Given the description of an element on the screen output the (x, y) to click on. 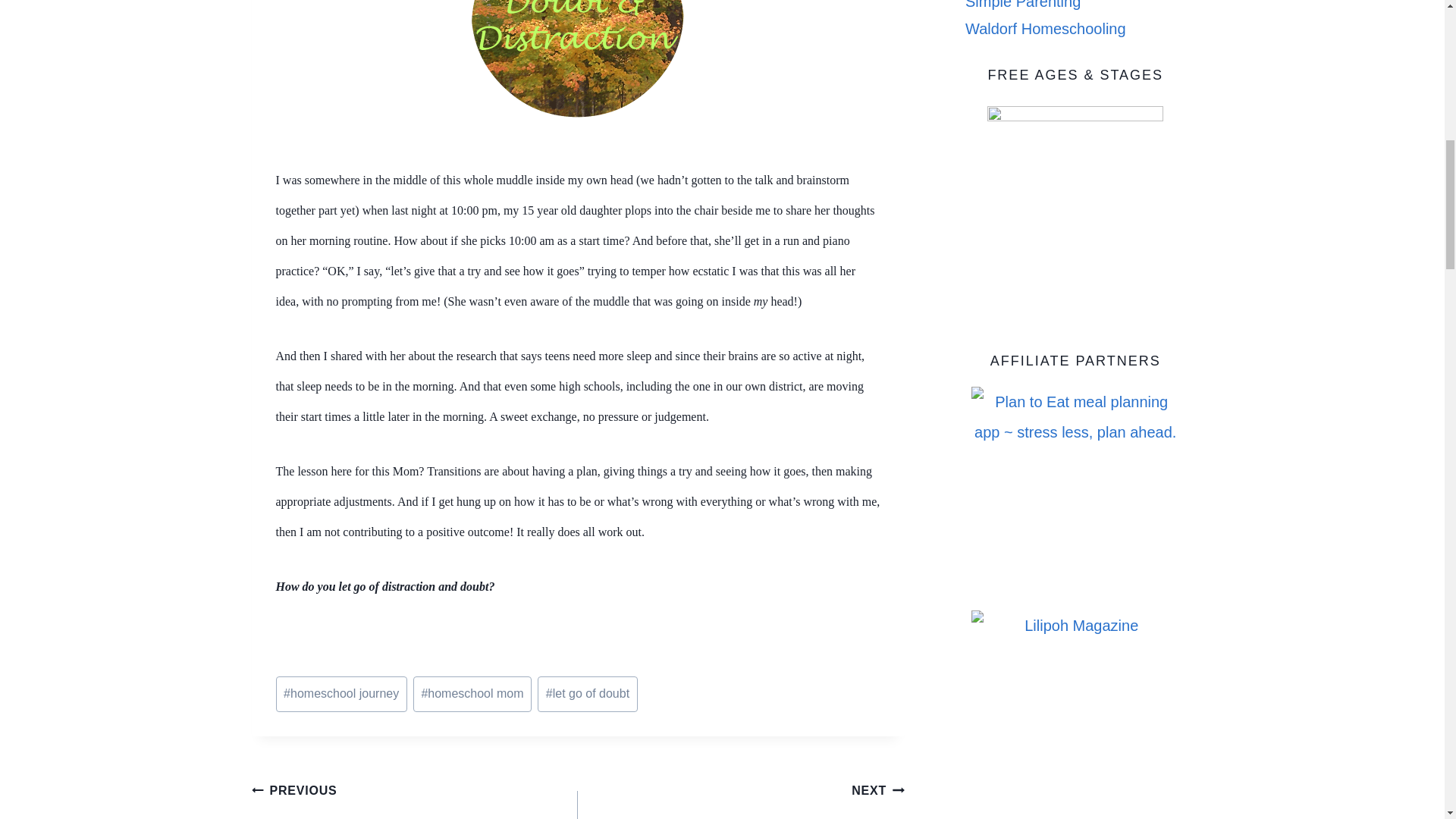
homeschool mom (472, 693)
homeschool journey (741, 796)
let go of doubt (341, 693)
